Given the description of an element on the screen output the (x, y) to click on. 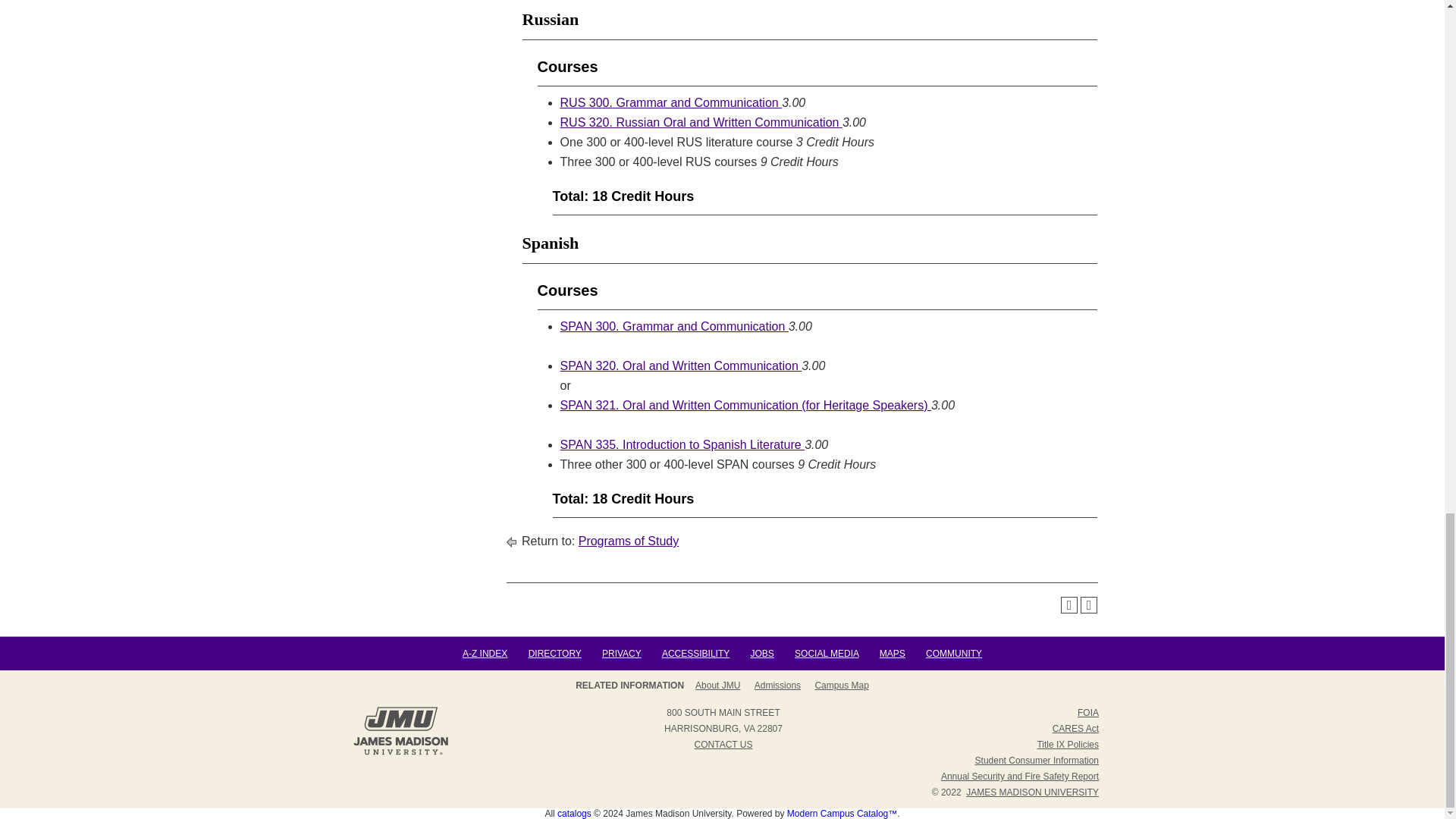
A-Z Index (484, 653)
